Given the description of an element on the screen output the (x, y) to click on. 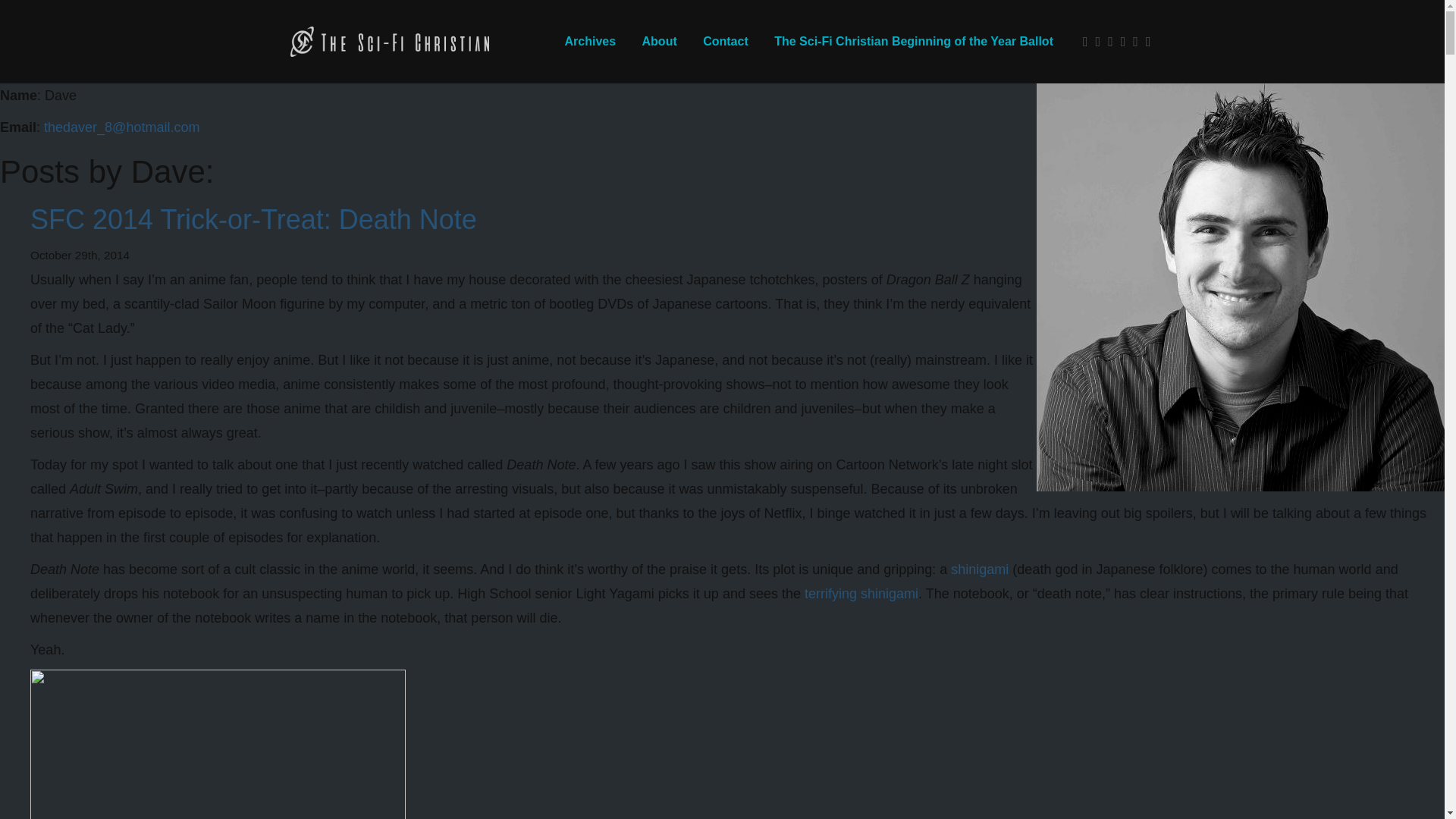
shinigami (980, 569)
Contact (725, 41)
terrifying (831, 593)
The Sci-Fi Christian Beginning of the Year Ballot (913, 41)
About (659, 41)
Archives (590, 41)
SFC 2014 Trick-or-Treat: Death Note (253, 219)
shinigami (889, 593)
